Given the description of an element on the screen output the (x, y) to click on. 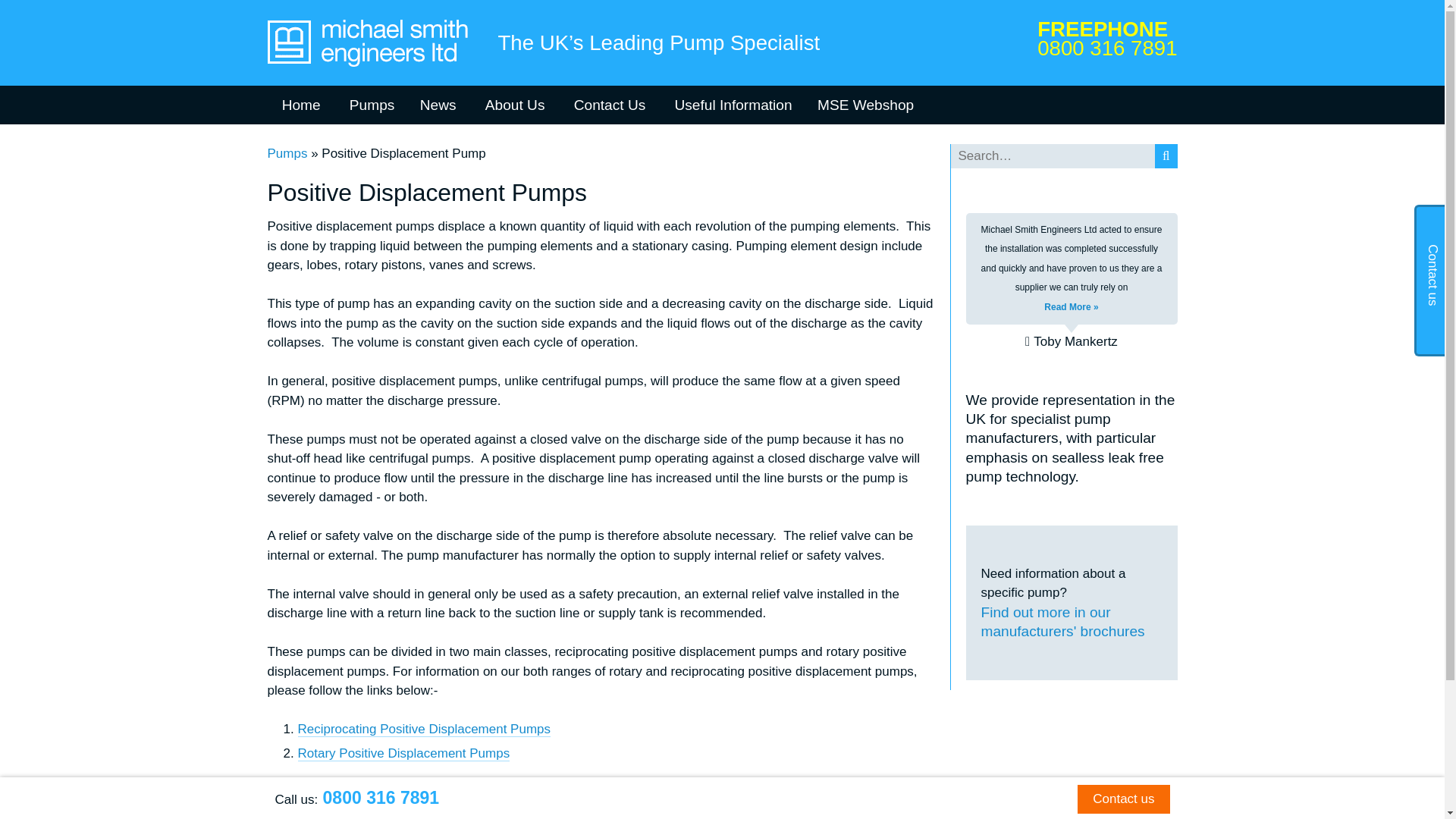
Useful Information (731, 104)
Useful Information (731, 104)
News (438, 104)
Pumps (370, 104)
Contact us (1123, 799)
MSE Webshop (865, 104)
Home (300, 104)
News (438, 104)
Contact Us (610, 104)
Rotary Positive Displacement Pumps (403, 753)
MSE Webshop (865, 104)
Reciprocating Positive Displacement Pumps (423, 729)
Find out more in our manufacturers' brochures (1071, 621)
Pumps (286, 152)
Contact Us (610, 104)
